Given the description of an element on the screen output the (x, y) to click on. 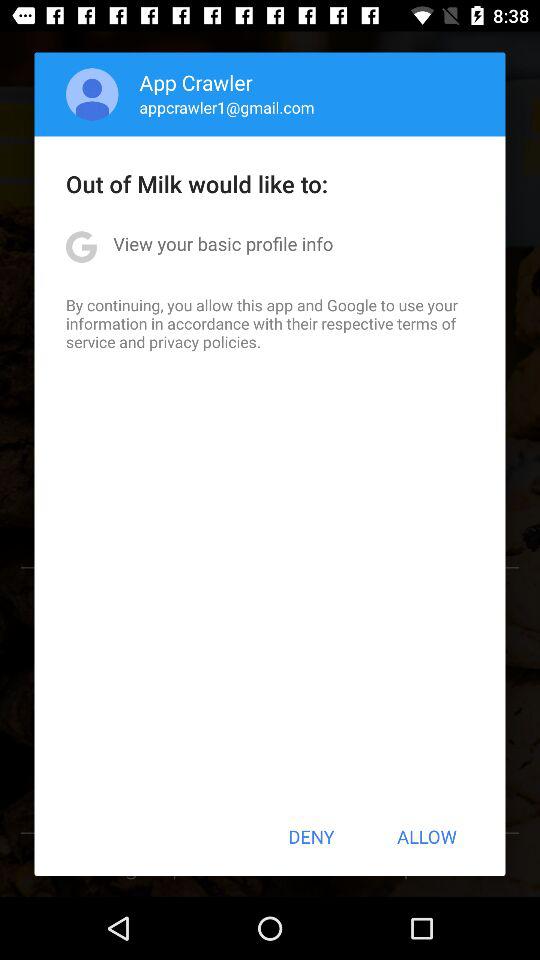
tap app below app crawler item (226, 107)
